Given the description of an element on the screen output the (x, y) to click on. 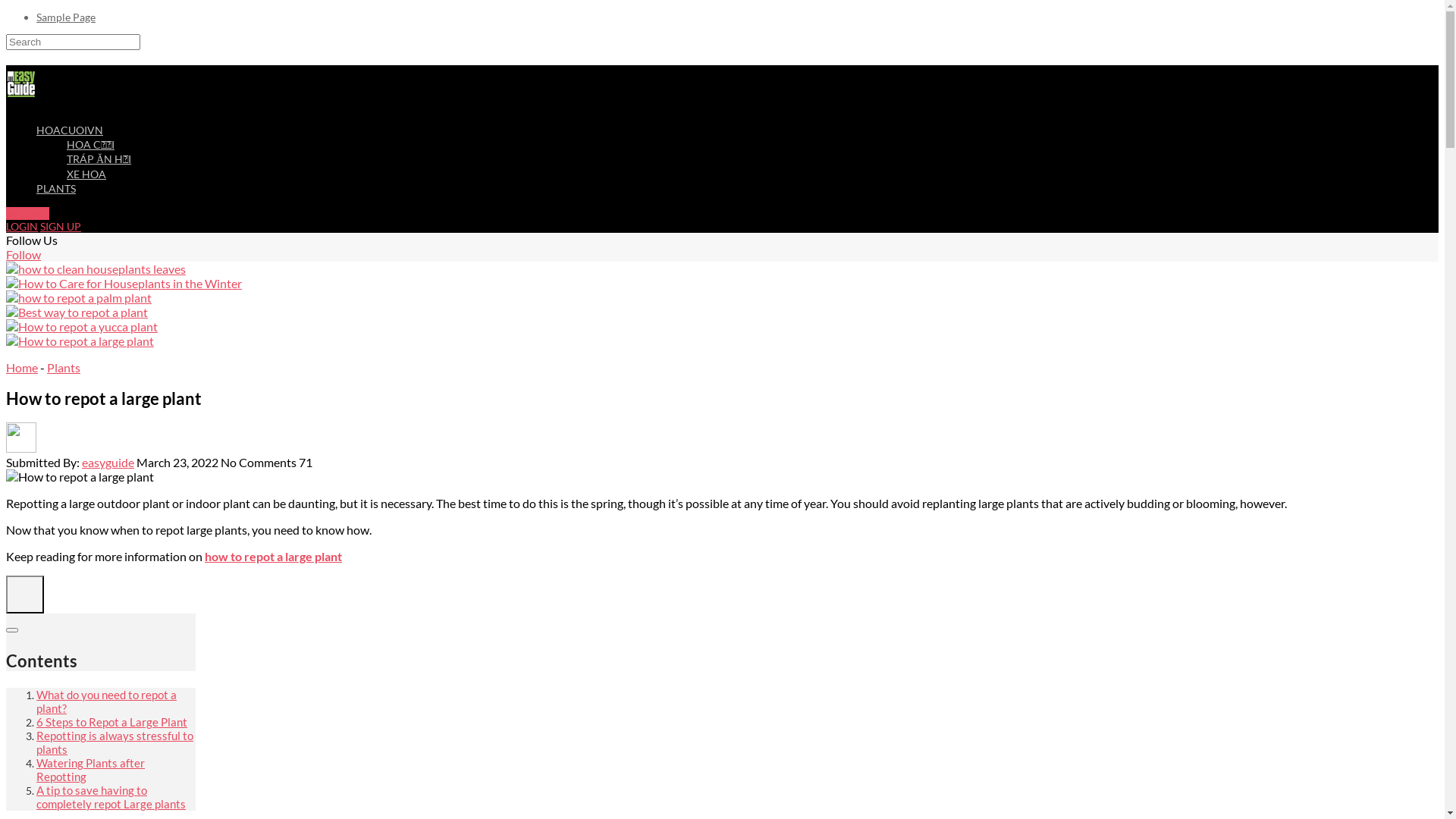
Home Element type: text (21, 367)
click To Maximize The Table Of Contents Element type: hover (24, 594)
Plants Element type: text (63, 367)
how to repot a large plant Element type: text (273, 556)
easyguide Element type: text (107, 462)
SIGN UP Element type: text (60, 225)
Follow Element type: text (23, 254)
6 Steps to Repot a Large Plant Element type: text (111, 721)
Watering Plants after Repotting Element type: text (90, 769)
XE HOA Element type: text (86, 173)
A tip to save having to completely repot Large plants Element type: text (110, 797)
LOGIN Element type: text (21, 225)
Sample Page Element type: text (65, 16)
Repotting is always stressful to plants Element type: text (114, 742)
What do you need to repot a plant? Element type: text (106, 701)
UPLOAD Element type: text (27, 213)
HOACUOIVN Element type: text (69, 129)
PLANTS Element type: text (55, 188)
